Given the description of an element on the screen output the (x, y) to click on. 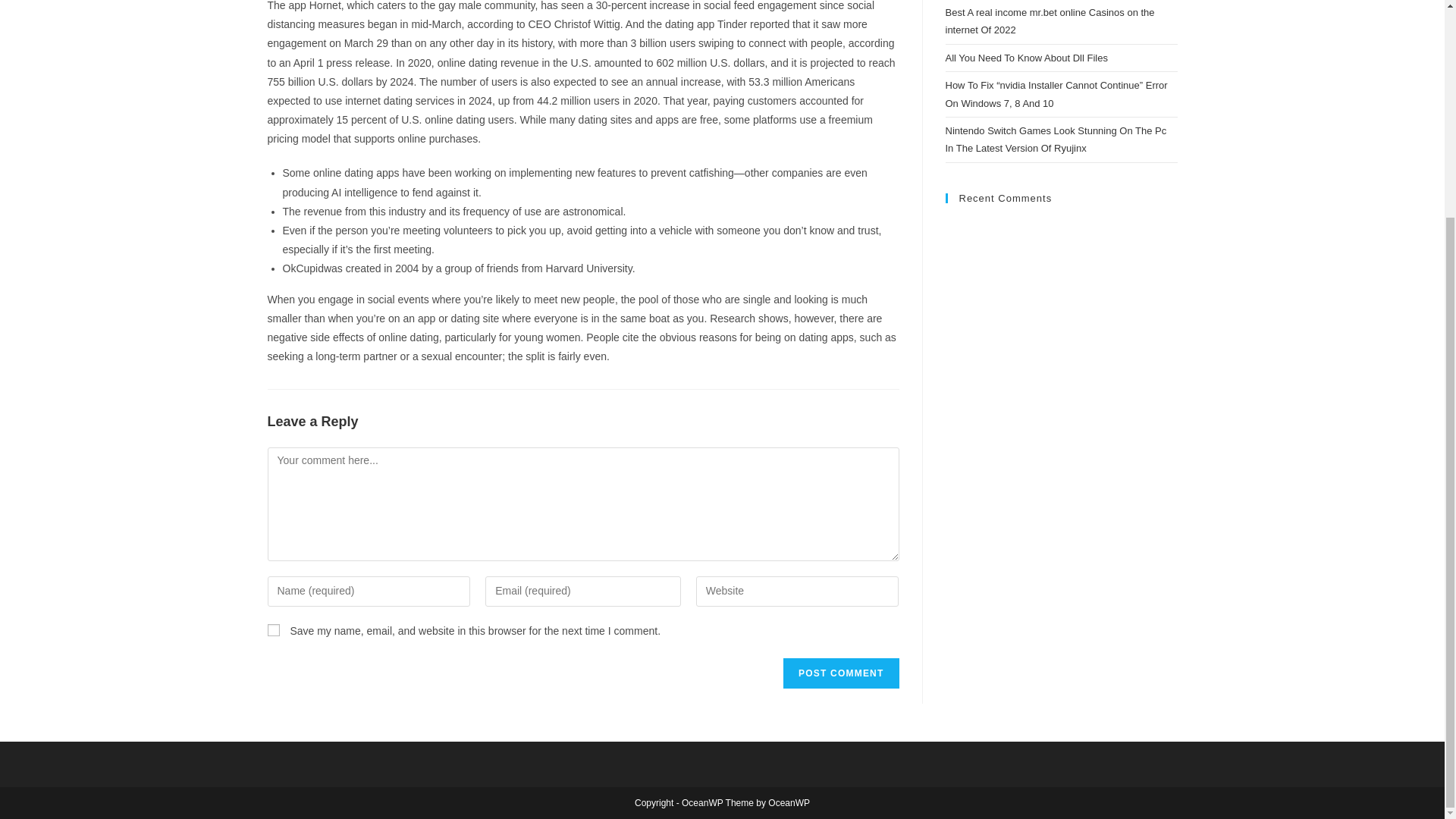
Post Comment (840, 673)
All You Need To Know About Dll Files (1025, 57)
yes (272, 630)
Post Comment (840, 673)
